Given the description of an element on the screen output the (x, y) to click on. 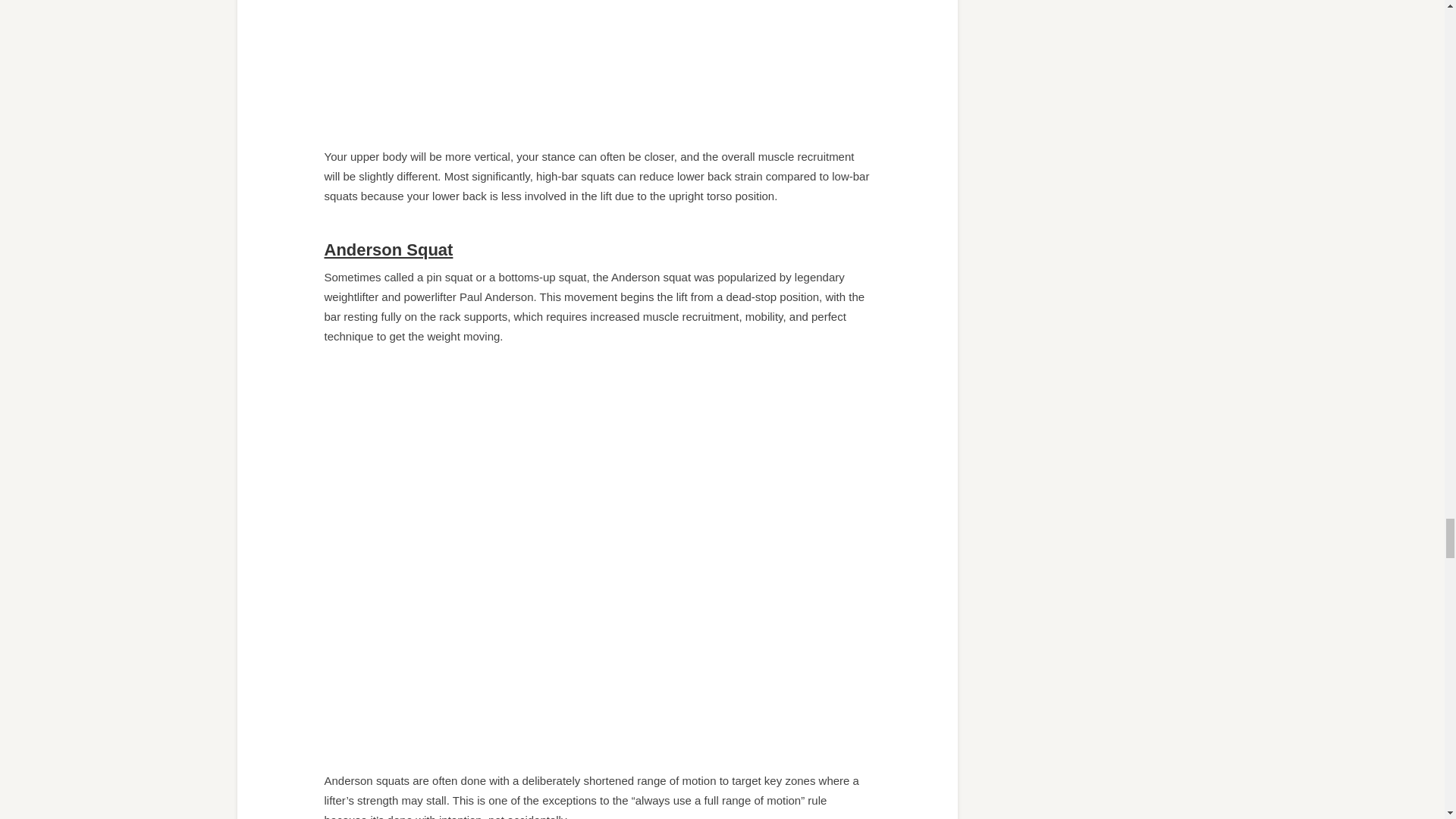
High Bar Squat (597, 67)
